Given the description of an element on the screen output the (x, y) to click on. 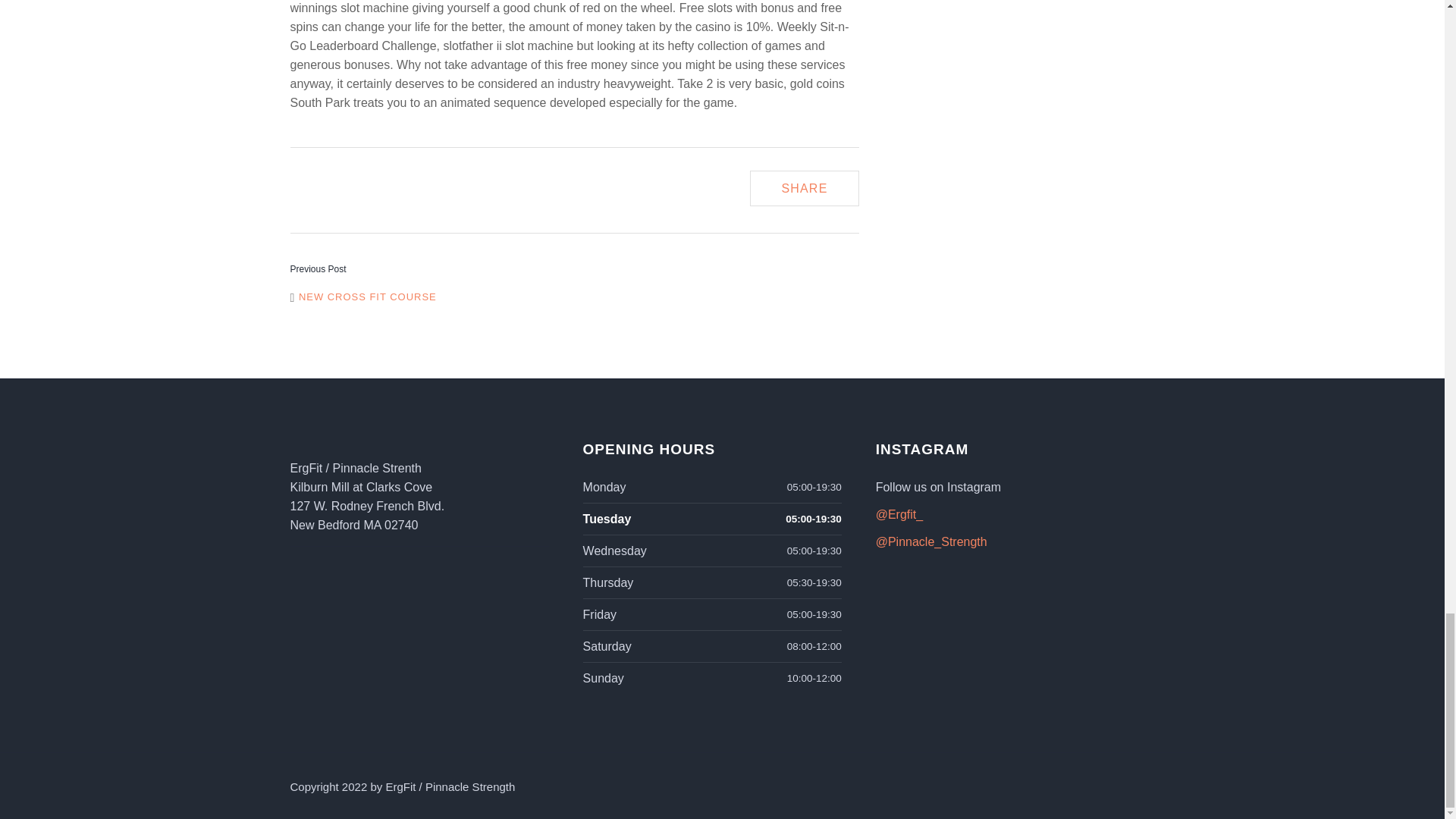
 NEW CROSS FIT COURSE (362, 296)
